Given the description of an element on the screen output the (x, y) to click on. 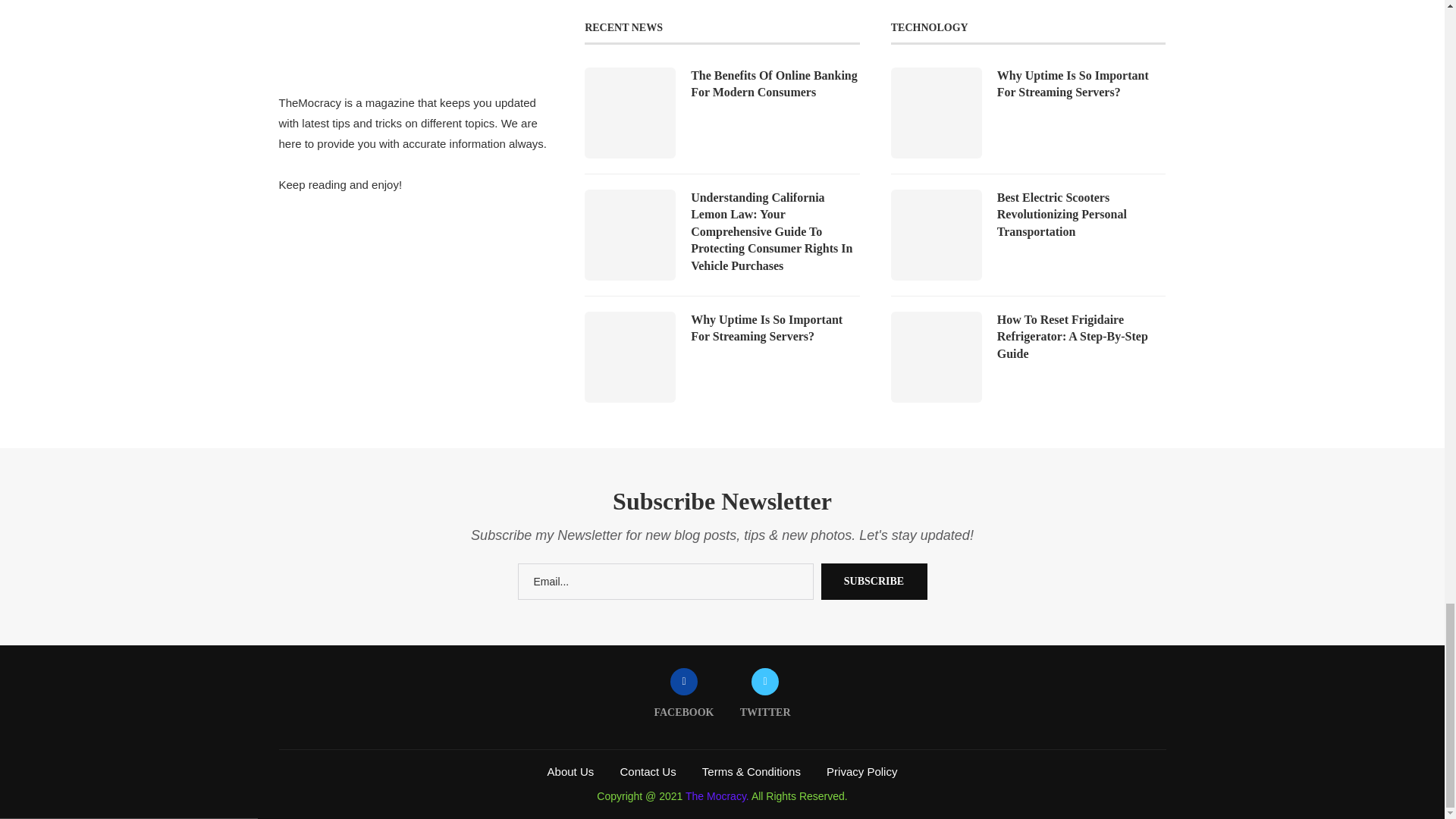
Subscribe (873, 581)
